Given the description of an element on the screen output the (x, y) to click on. 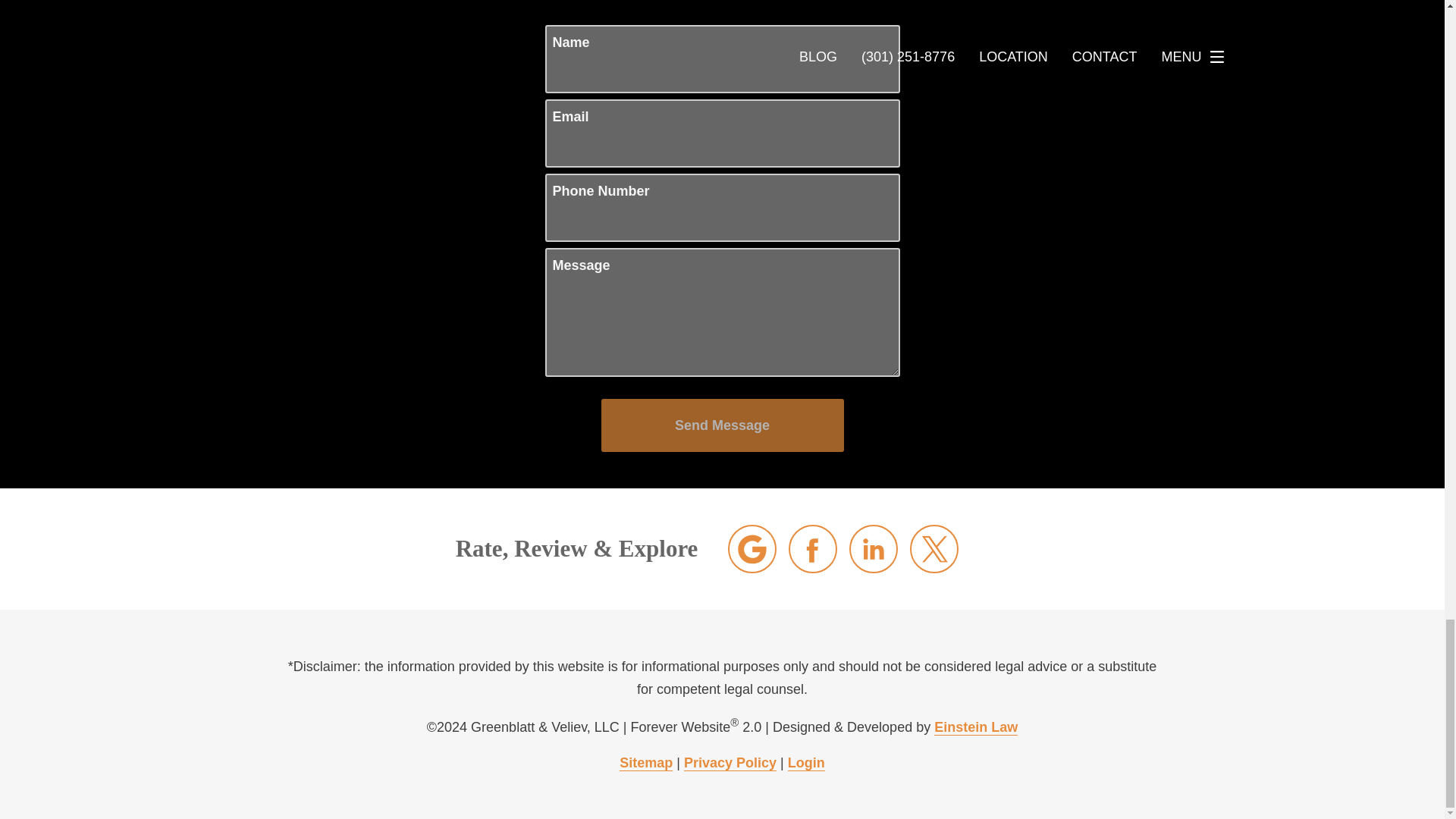
Privacy Policy (730, 763)
Send Message (721, 425)
Twitter (934, 548)
Einstein Law (975, 727)
Sitemap (646, 763)
LinkedIn (873, 548)
Google (752, 548)
Login (806, 763)
Facebook (813, 548)
